Given the description of an element on the screen output the (x, y) to click on. 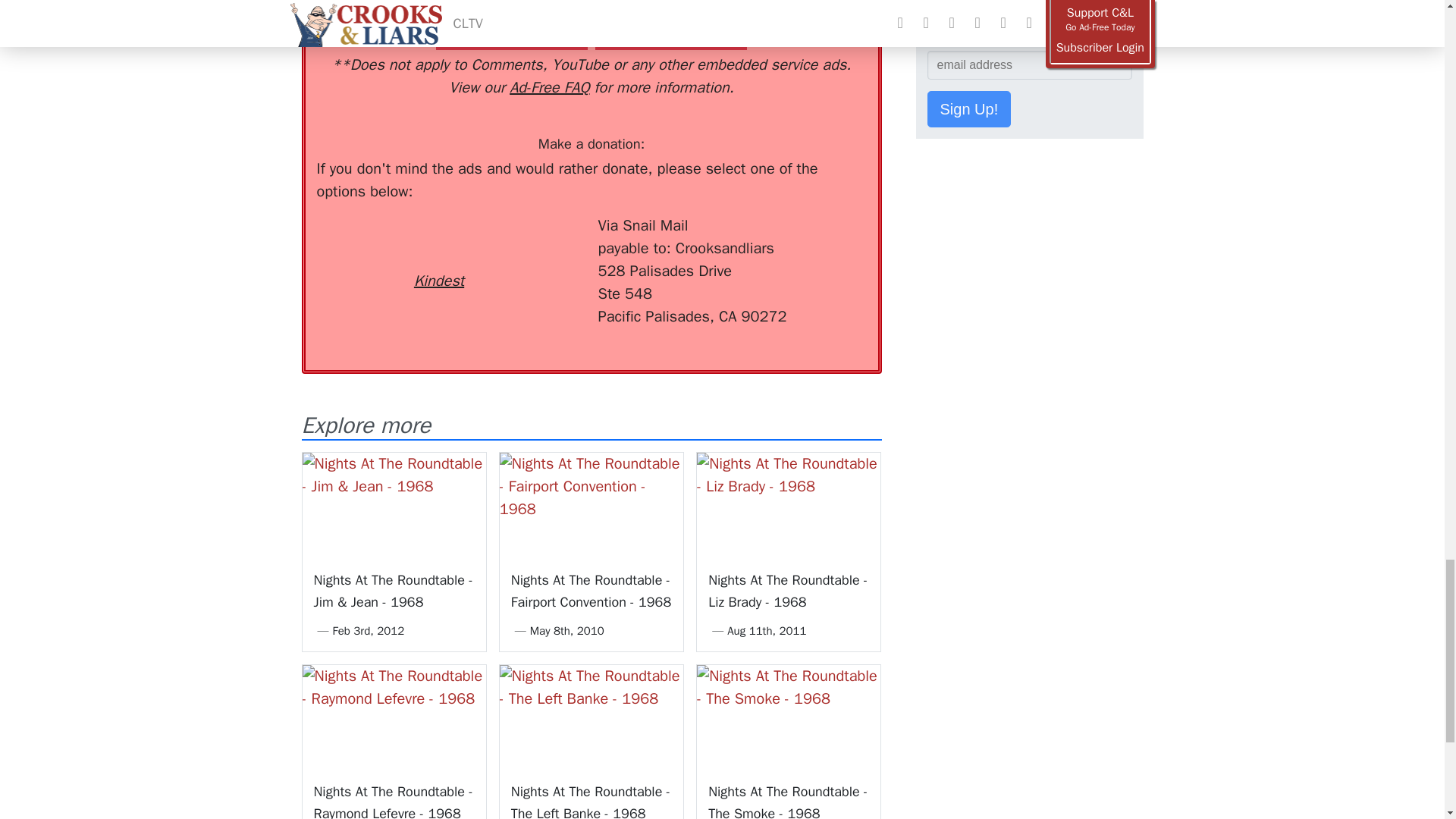
Ad-Free FAQ (549, 87)
Donate via PayPal (540, 242)
Donate via Kindest (438, 253)
Kindest (438, 253)
